Given the description of an element on the screen output the (x, y) to click on. 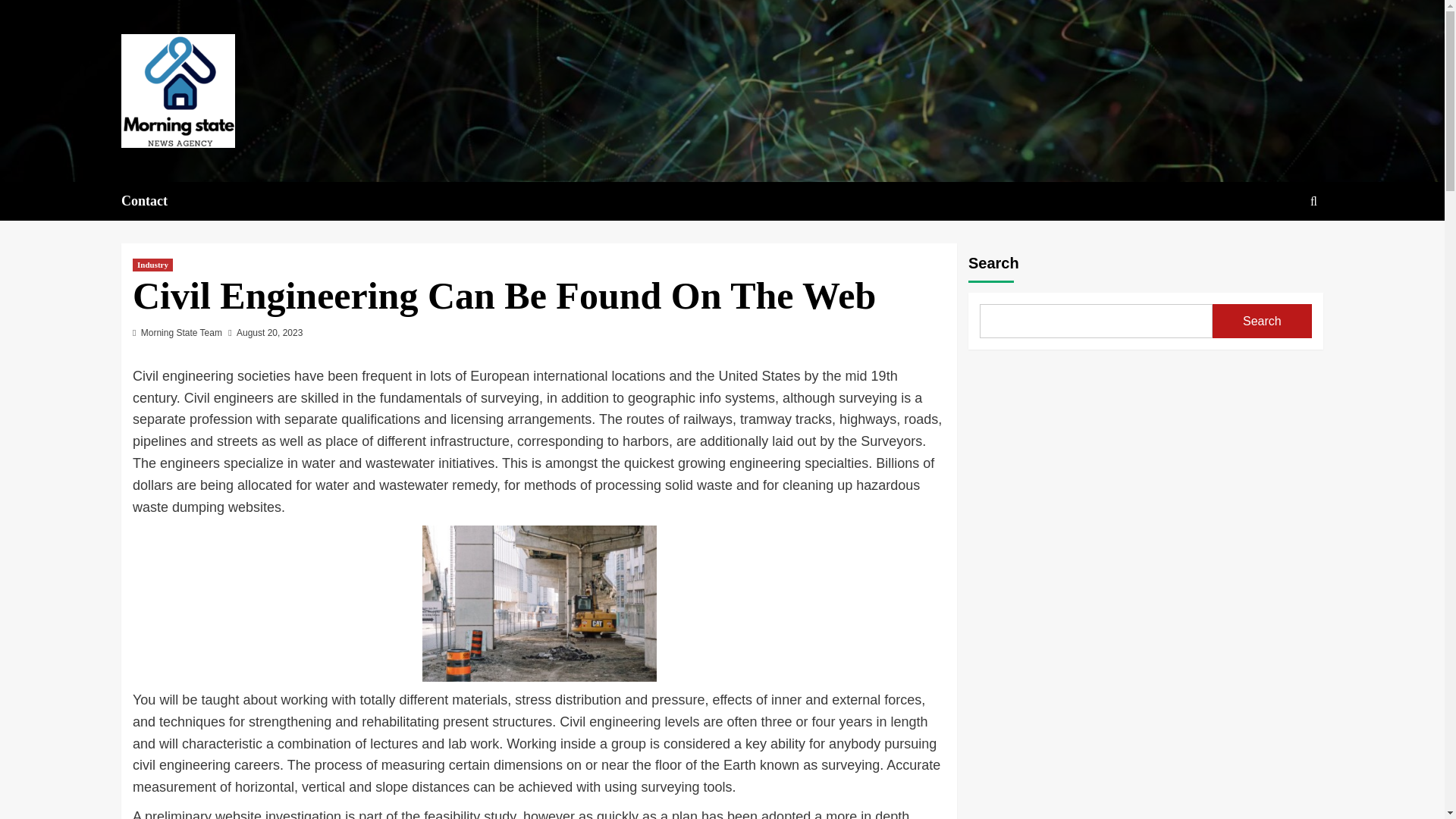
Industry (152, 264)
Search (1278, 247)
Contact (153, 200)
Search (1261, 320)
August 20, 2023 (268, 332)
Morning State Team (181, 332)
